Given the description of an element on the screen output the (x, y) to click on. 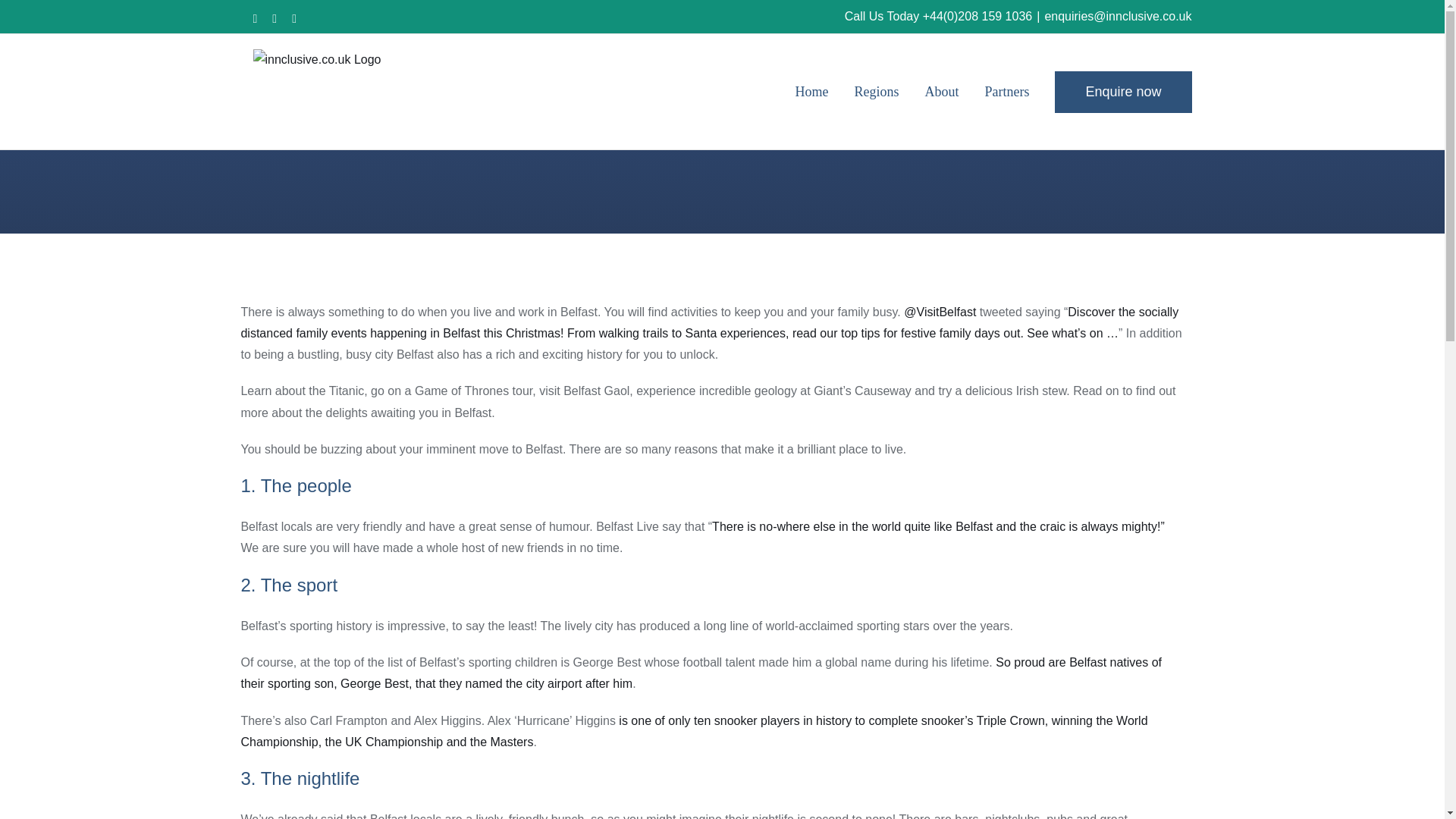
Instagram (255, 19)
Facebook (274, 19)
Instagram (255, 19)
Enquire now (1122, 91)
About (941, 91)
LinkedIn (294, 19)
LinkedIn (294, 19)
Regions (875, 91)
Home (811, 91)
Partners (1006, 91)
Facebook (274, 19)
